Given the description of an element on the screen output the (x, y) to click on. 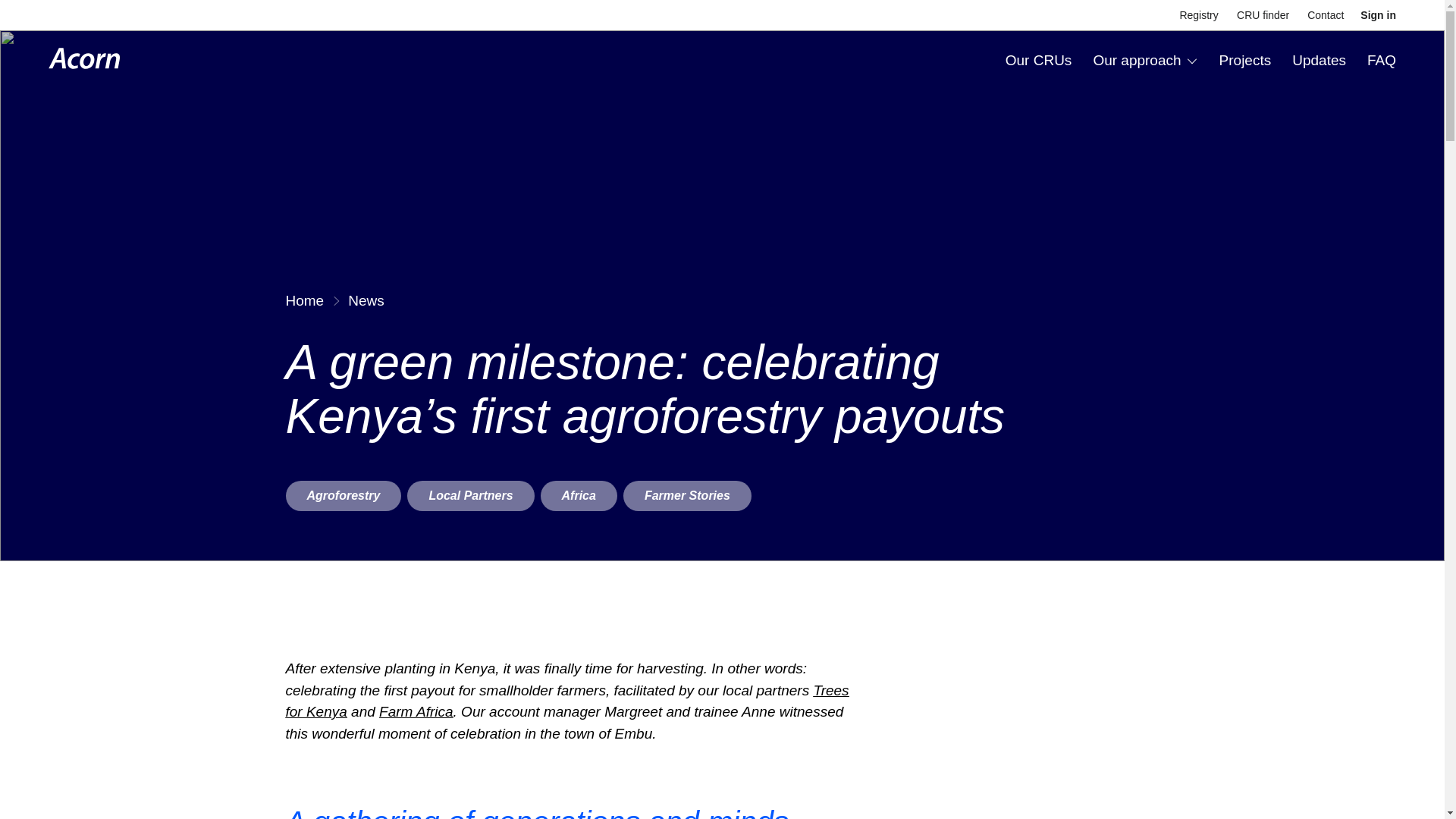
Local Partners (470, 495)
Agroforestry (343, 495)
Our approach (1144, 60)
Farmer Stories (687, 495)
Africa (578, 495)
Africa (578, 495)
Contact (1325, 15)
Home (304, 301)
Our CRUs (1038, 60)
News (365, 301)
Sign in (1377, 15)
Back to the homepage (84, 60)
CRU finder (1262, 15)
Local Partners (470, 495)
Farmer Stories (687, 495)
